Given the description of an element on the screen output the (x, y) to click on. 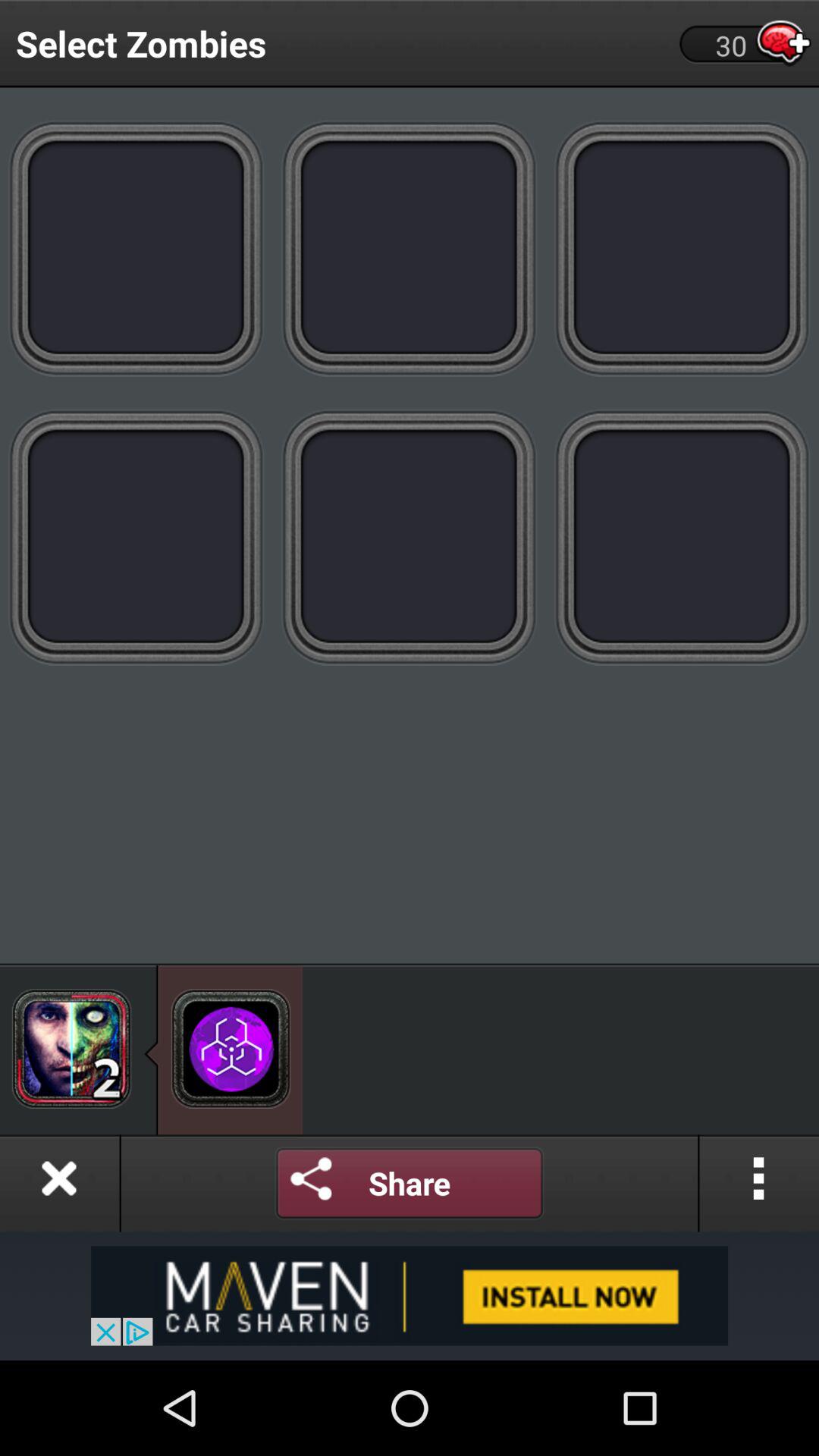
view options (759, 1182)
